Given the description of an element on the screen output the (x, y) to click on. 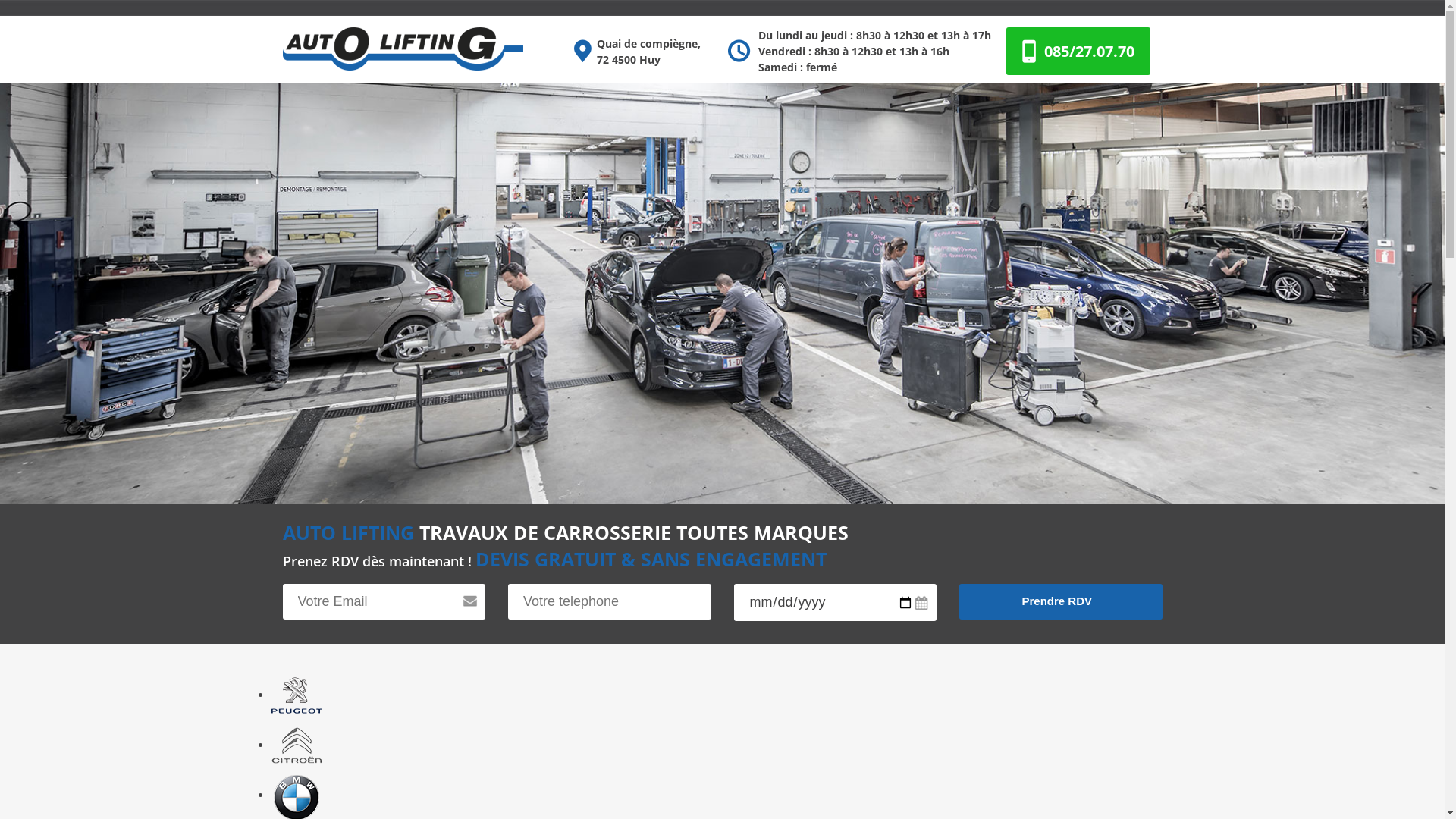
Prendre RDV Element type: text (1060, 601)
085/27.07.70 Element type: text (1089, 50)
